Given the description of an element on the screen output the (x, y) to click on. 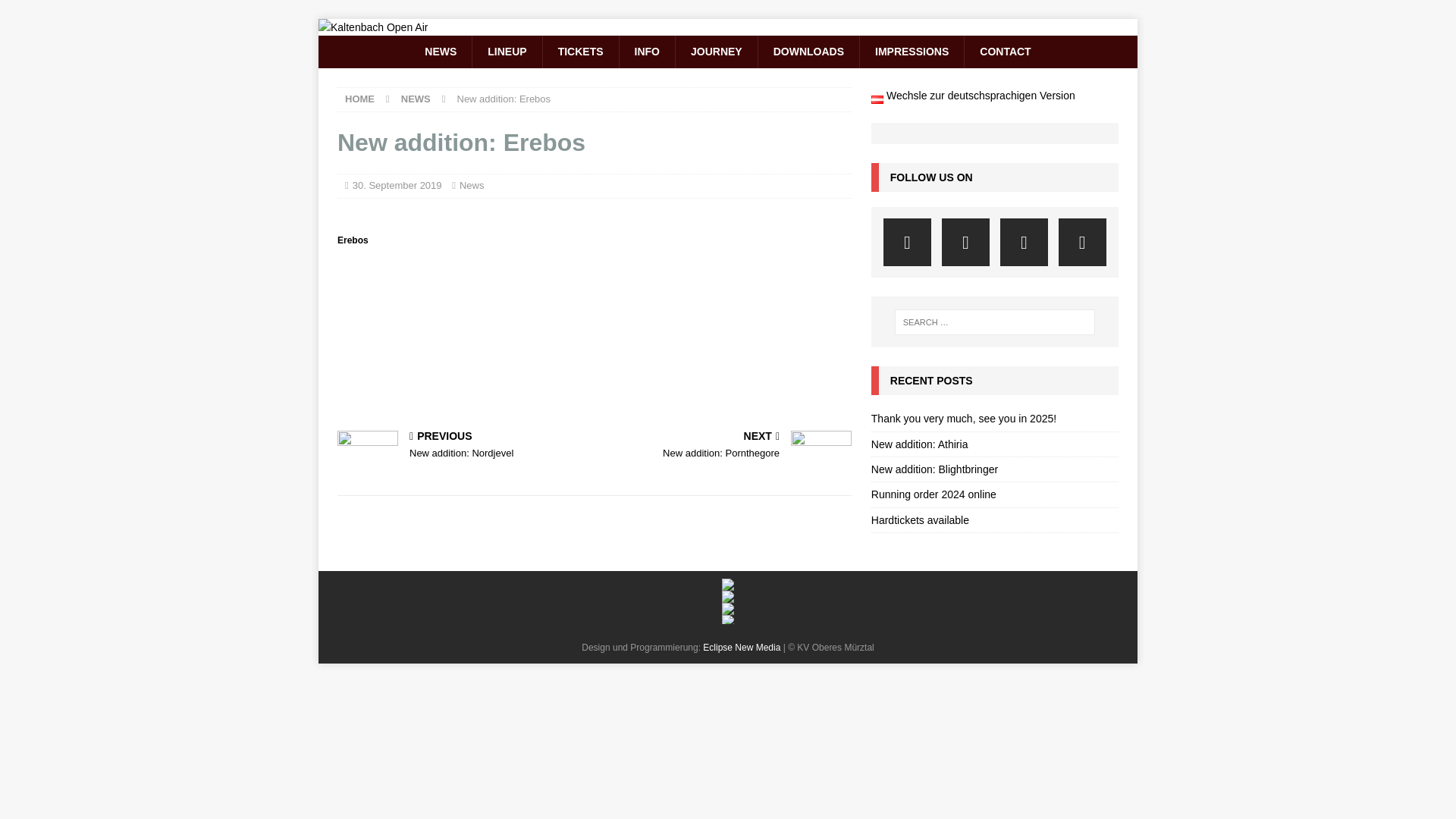
New addition: Athiria (919, 444)
News (472, 184)
Search (56, 11)
Hardtickets available (919, 520)
NEWS (440, 51)
Running order 2024 online (932, 494)
Kaltenbach Open Air (373, 27)
HOME (359, 98)
NEWS (415, 98)
Thank you very much, see you in 2025! (963, 418)
